Given the description of an element on the screen output the (x, y) to click on. 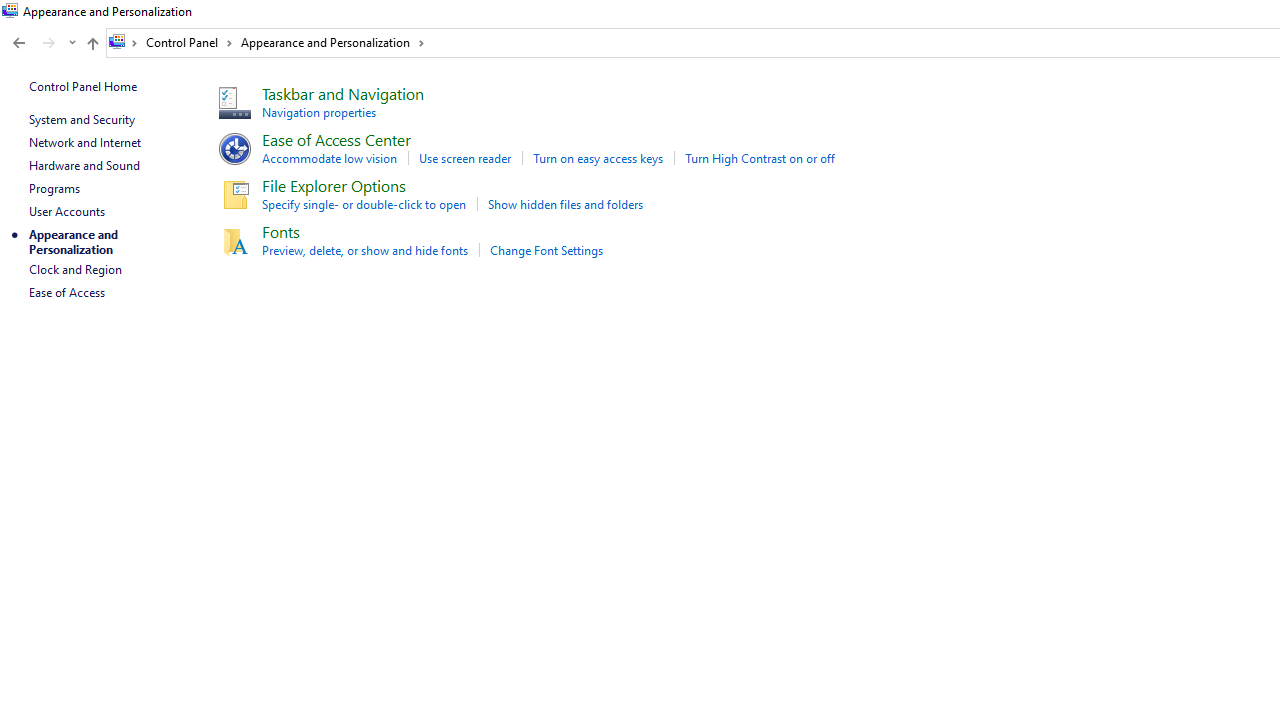
Up to "Control Panel" (Alt + Up Arrow) (92, 43)
Up band toolbar (92, 46)
Control Panel Home (82, 86)
Appearance and Personalization (332, 42)
Taskbar and Navigation (342, 92)
File Explorer Options (333, 184)
Change Font Settings (546, 250)
System (10, 11)
Turn on easy access keys (598, 158)
Clock and Region (75, 269)
Control Panel (189, 42)
Navigation buttons (41, 43)
Accommodate low vision (329, 158)
Navigation properties (318, 112)
Fonts (280, 231)
